Given the description of an element on the screen output the (x, y) to click on. 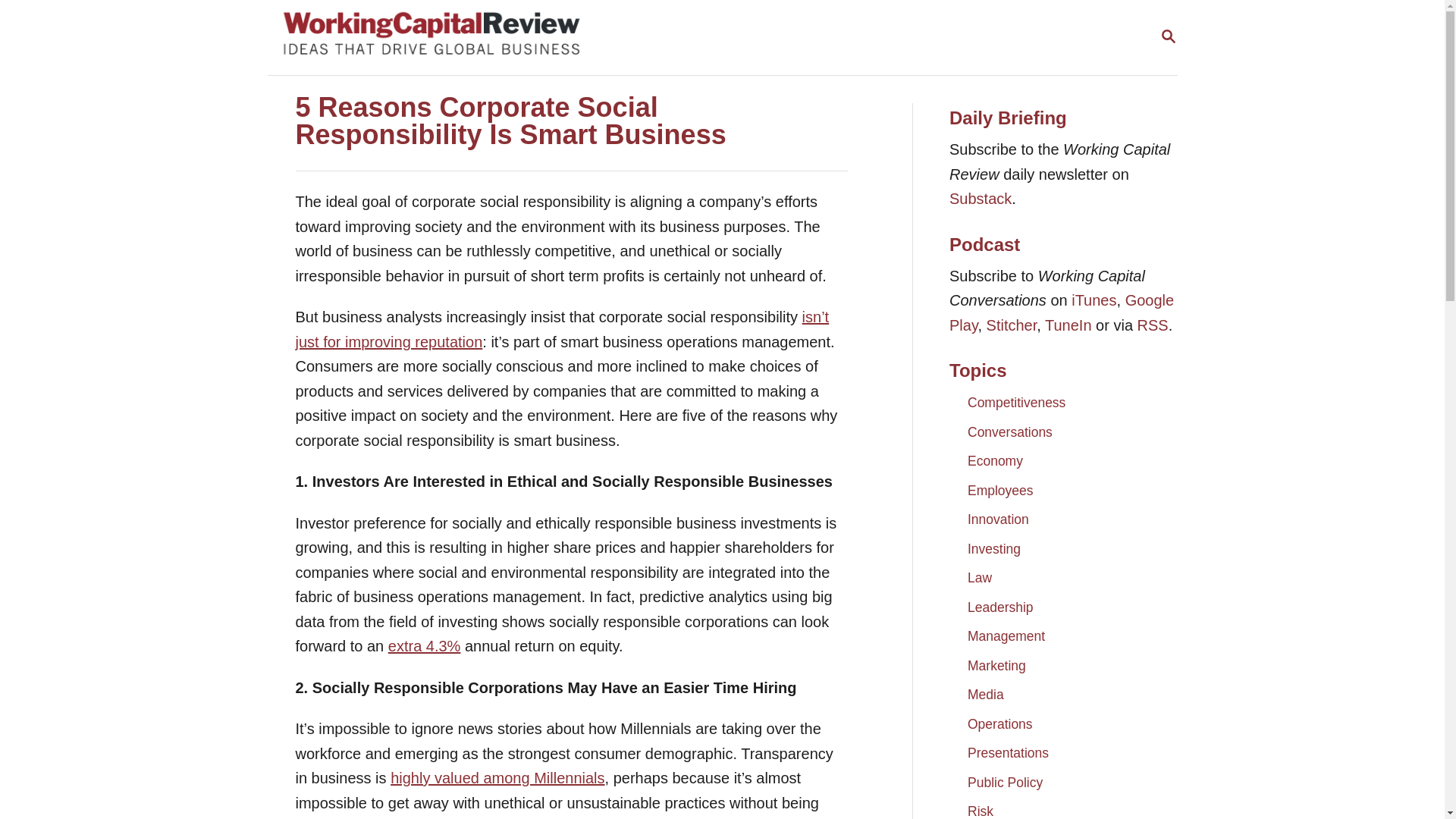
Presentations (1008, 752)
MAGNIFYING GLASS (1167, 37)
Leadership (1167, 36)
highly valued among Millennials (1000, 606)
Law (497, 777)
Conversations (979, 577)
Risk (1009, 431)
Working Capital Review (980, 806)
Economy (541, 37)
Management (995, 460)
Substack (1005, 635)
Employees (980, 198)
Media (1000, 489)
TuneIn (985, 694)
